Given the description of an element on the screen output the (x, y) to click on. 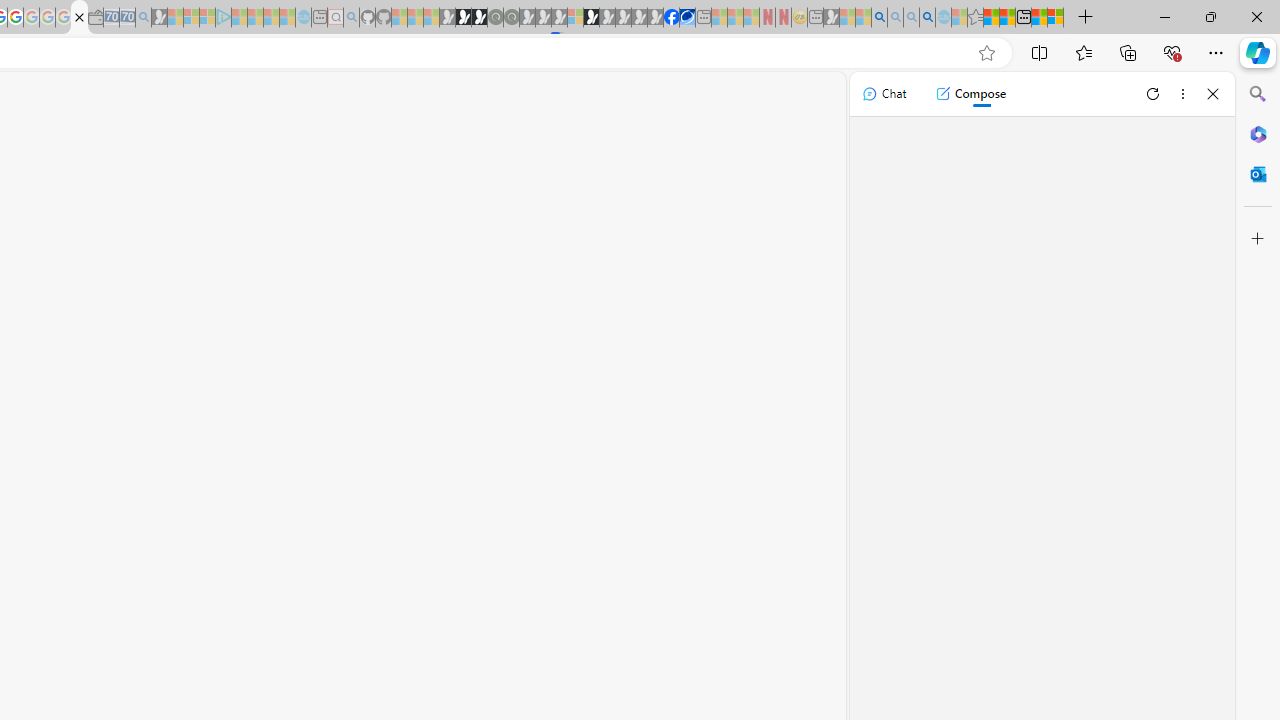
Sign in to your account - Sleeping (575, 17)
Compose (970, 93)
AQI & Health | AirNow.gov (687, 17)
